Given the description of an element on the screen output the (x, y) to click on. 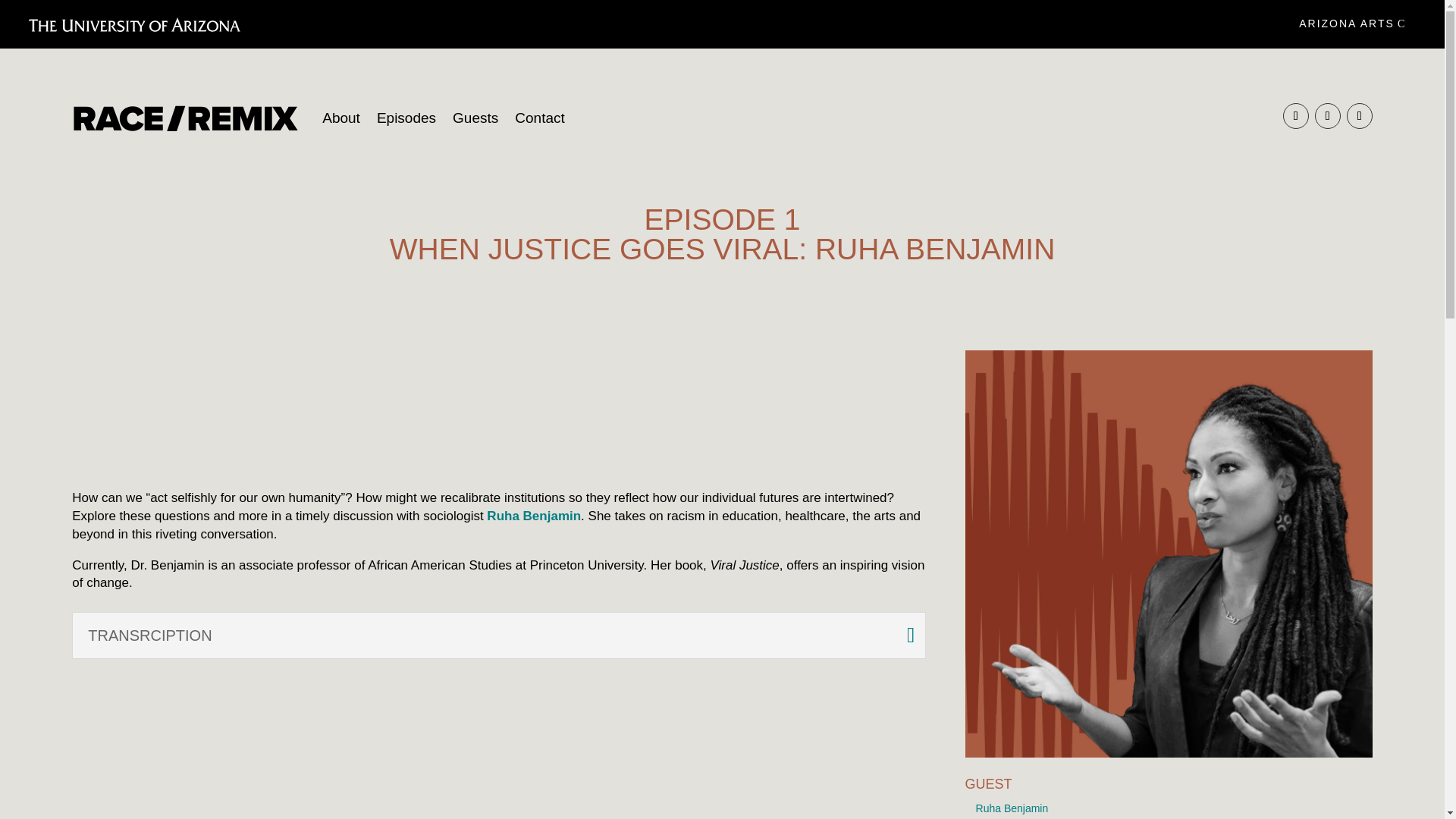
Ruha Benjamin (533, 515)
Episodes (406, 118)
Follow on Facebook (1327, 115)
Ruha Benjamin (1011, 808)
Follow on Instagram (1295, 115)
UArizona (134, 24)
ARIZONA ARTS (1353, 24)
Episode 1: Ruha Benjamin - When Justice Goes Viral (498, 407)
Follow on Youtube (1359, 115)
